Given the description of an element on the screen output the (x, y) to click on. 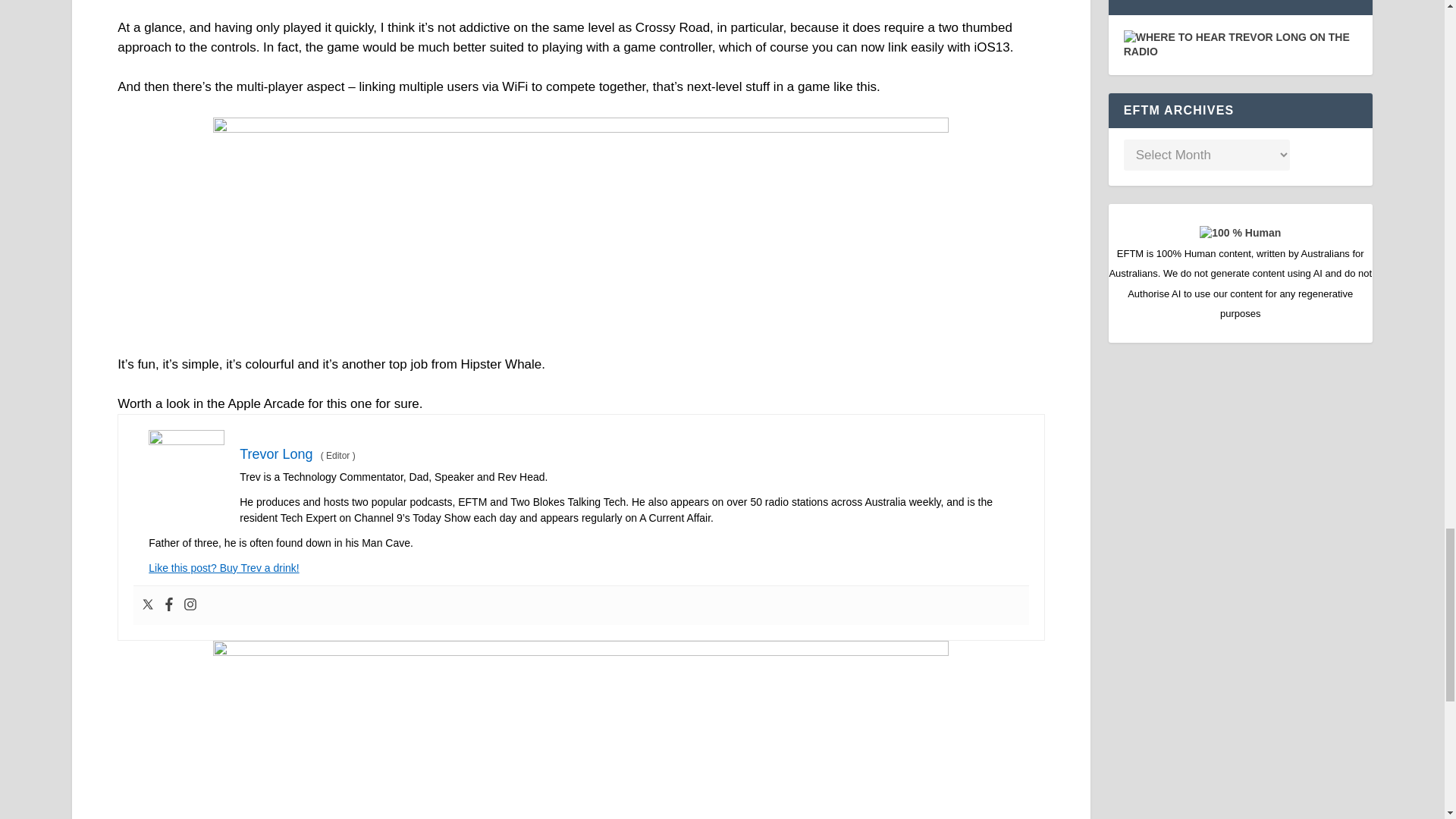
Trevor Long (276, 453)
Like this post? Buy Trev a drink! (223, 567)
